Given the description of an element on the screen output the (x, y) to click on. 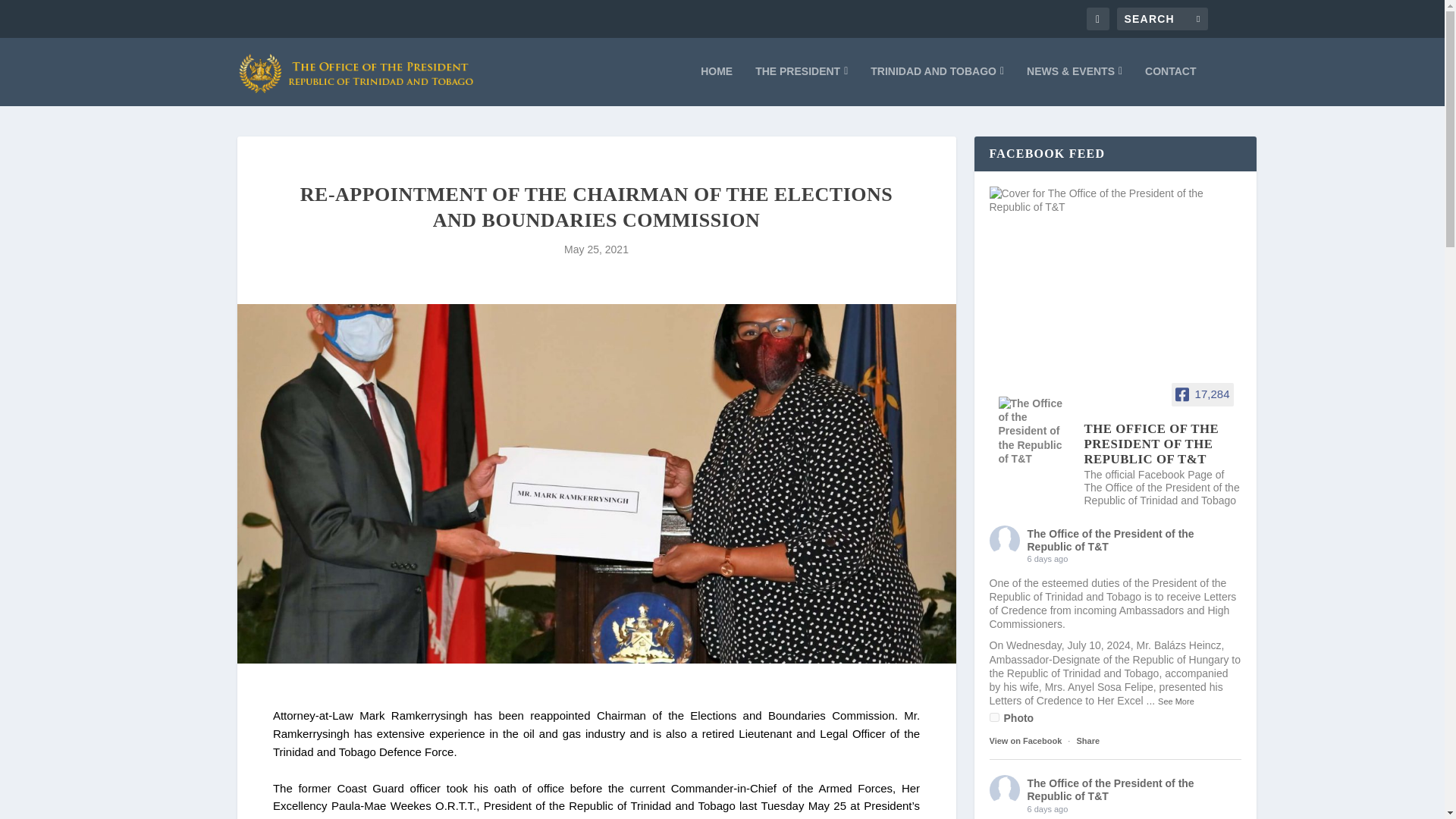
Search for: (1161, 18)
TRINIDAD AND TOBAGO (937, 85)
THE PRESIDENT (801, 85)
CONTACT (1169, 85)
HOME (716, 85)
